Given the description of an element on the screen output the (x, y) to click on. 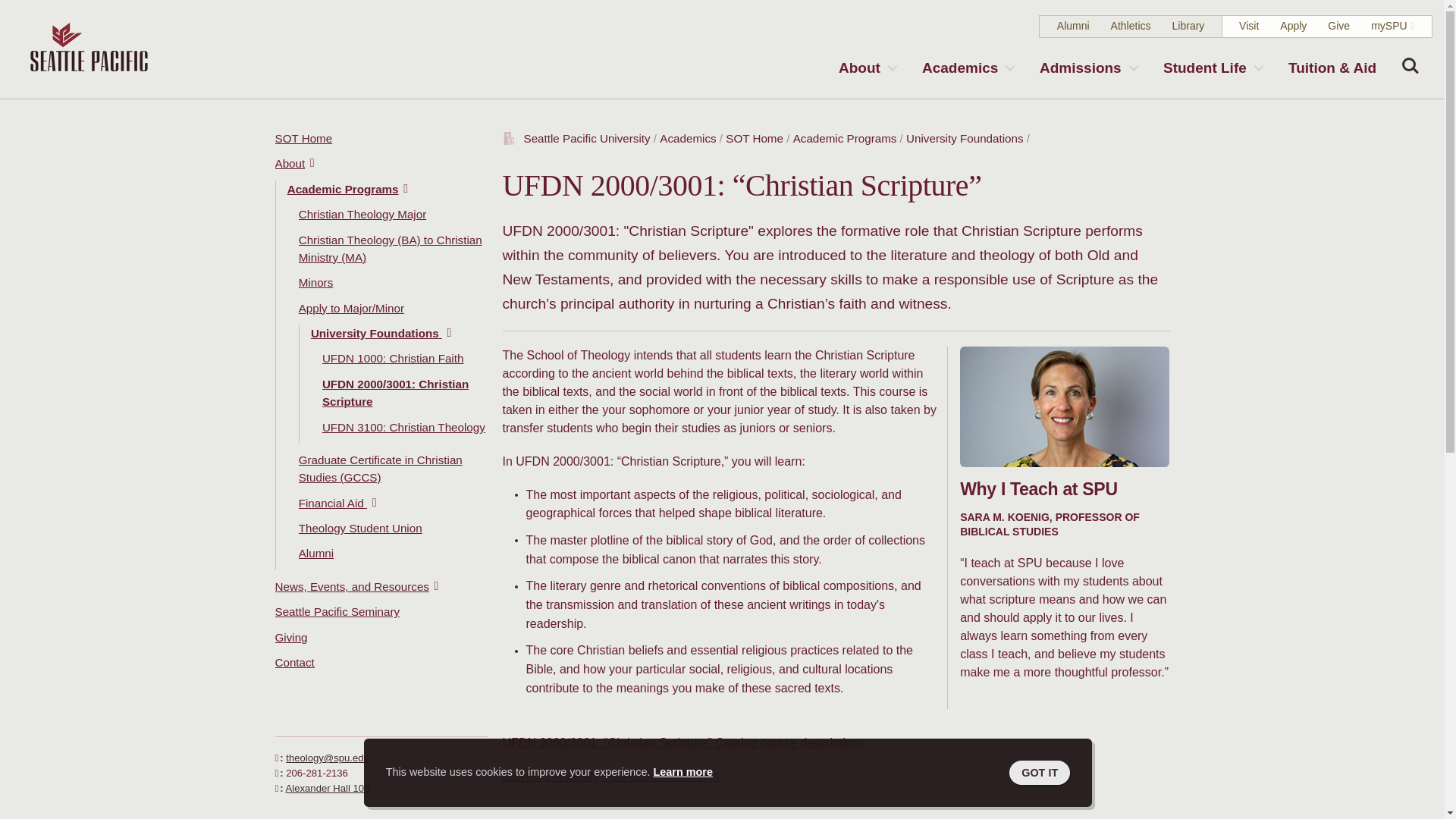
Learn more (683, 771)
Athletics (1130, 26)
About (866, 67)
Academics (967, 67)
Alumni (1073, 26)
Apply (1292, 26)
Library (1188, 26)
GOT IT (1039, 772)
Give (1338, 26)
Visit (1249, 26)
mySPU (1388, 26)
